Given the description of an element on the screen output the (x, y) to click on. 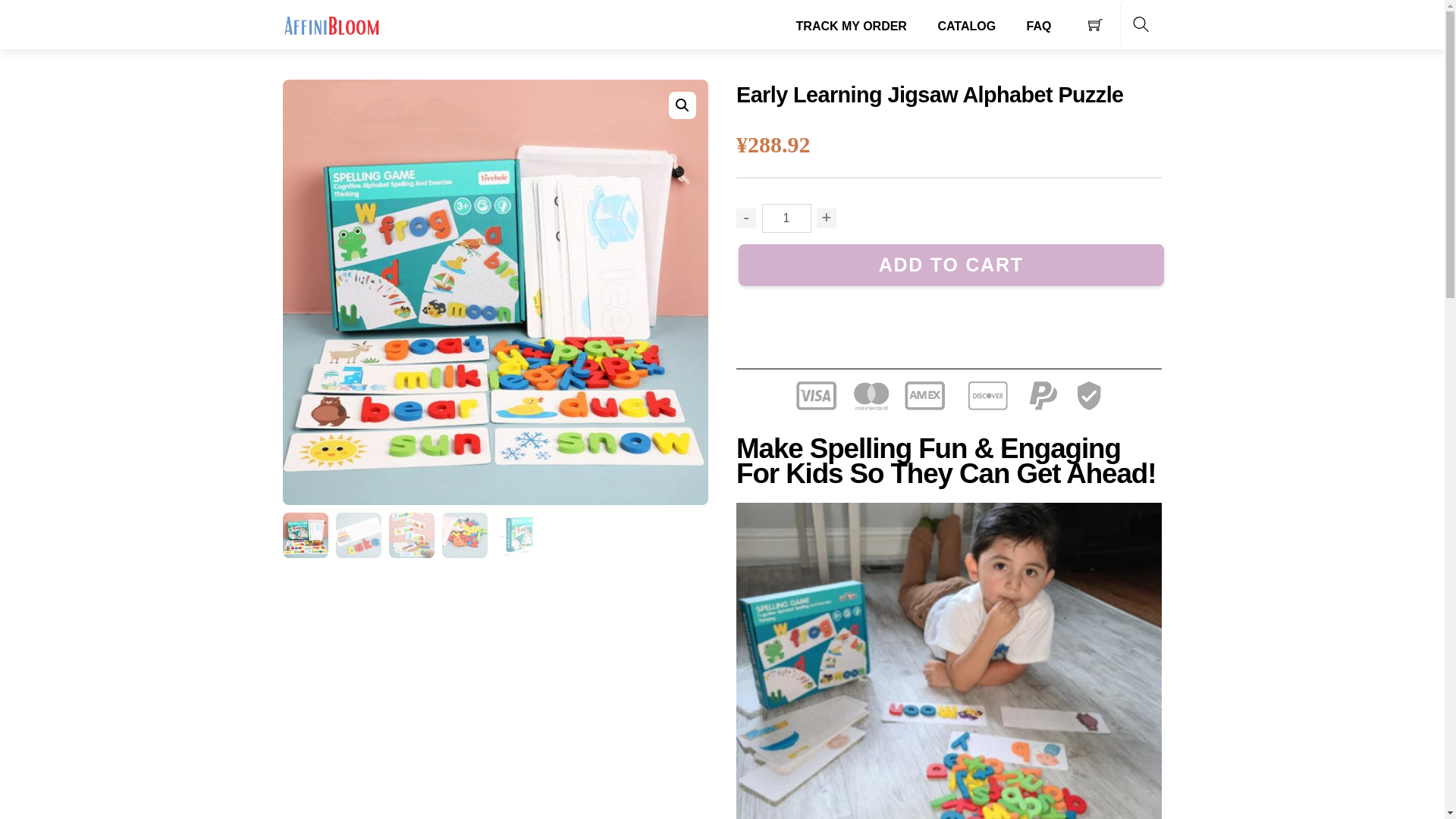
Qty (785, 217)
affinibloom (331, 24)
- (745, 218)
CATALOG (966, 25)
1 (785, 217)
Early Learning Jigsaw Alphabet Puzzle (948, 394)
ADD TO CART (950, 264)
PayPal (948, 347)
Early Learning Jigsaw Alphabet Puzzle (930, 94)
TRACK MY ORDER (851, 25)
FAQ (1038, 25)
Affini Bloom (331, 22)
